Given the description of an element on the screen output the (x, y) to click on. 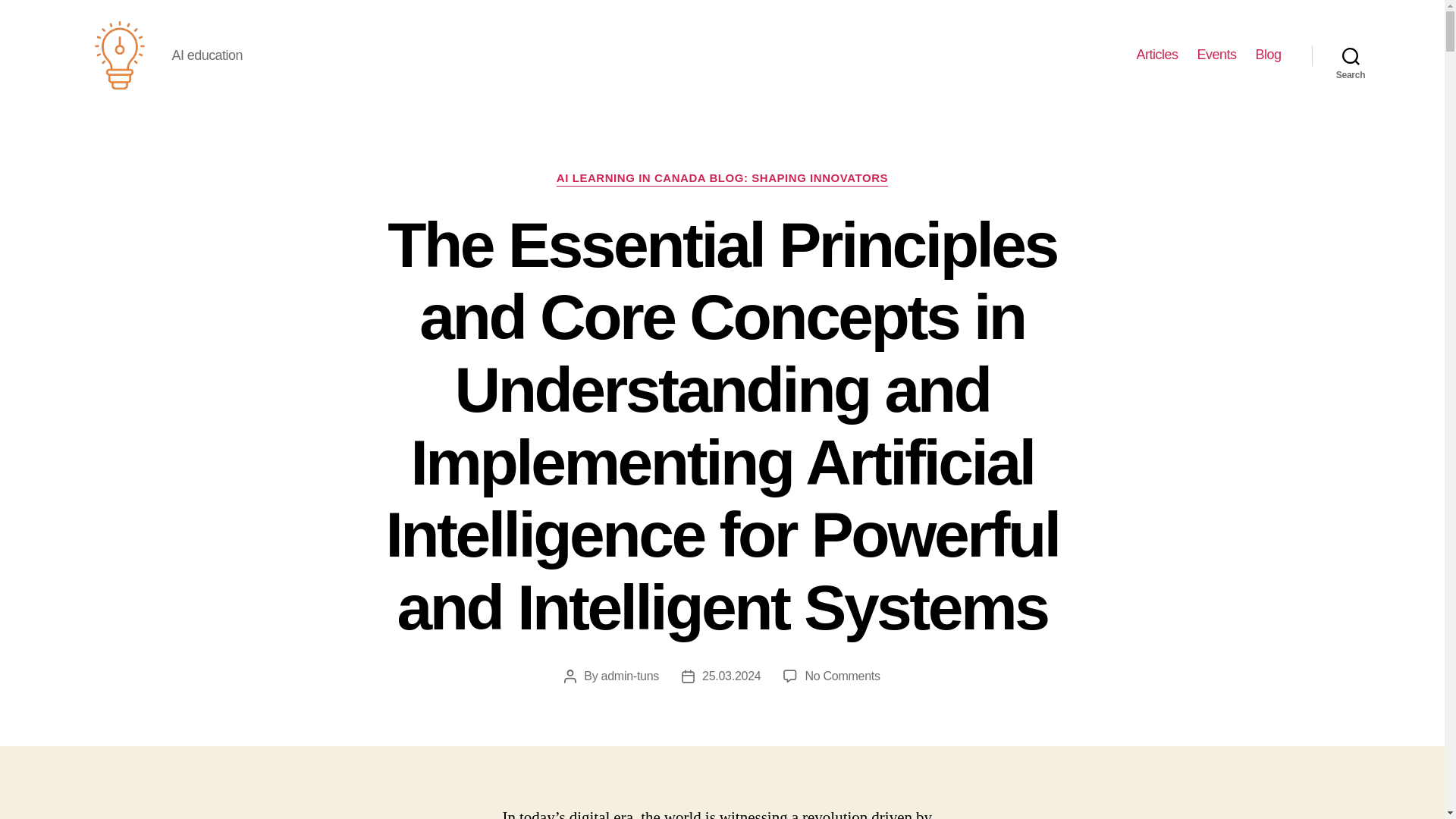
admin-tuns (630, 675)
Events (1216, 54)
Articles (1156, 54)
Blog (1268, 54)
Search (1350, 55)
25.03.2024 (730, 675)
AI LEARNING IN CANADA BLOG: SHAPING INNOVATORS (722, 178)
